Given the description of an element on the screen output the (x, y) to click on. 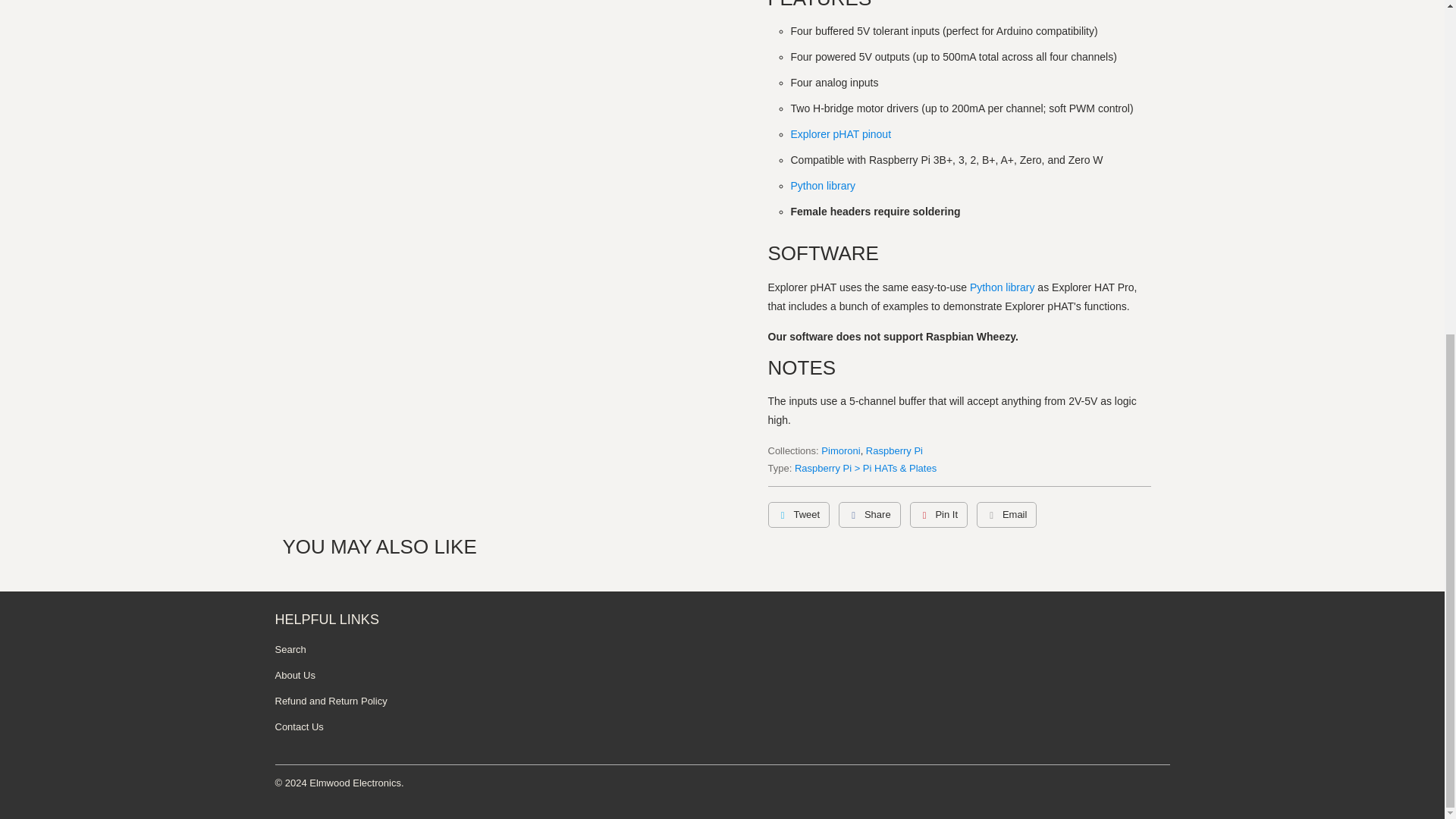
Tweet (798, 514)
Share (869, 514)
Explorer pHAT pinout (840, 133)
Email this to a friend (1006, 514)
Pin It (939, 514)
Elmwood Electronics (354, 782)
Share this on Twitter (798, 514)
Raspberry Pi (894, 450)
Contact Us (299, 726)
Pimoroni (840, 450)
